Given the description of an element on the screen output the (x, y) to click on. 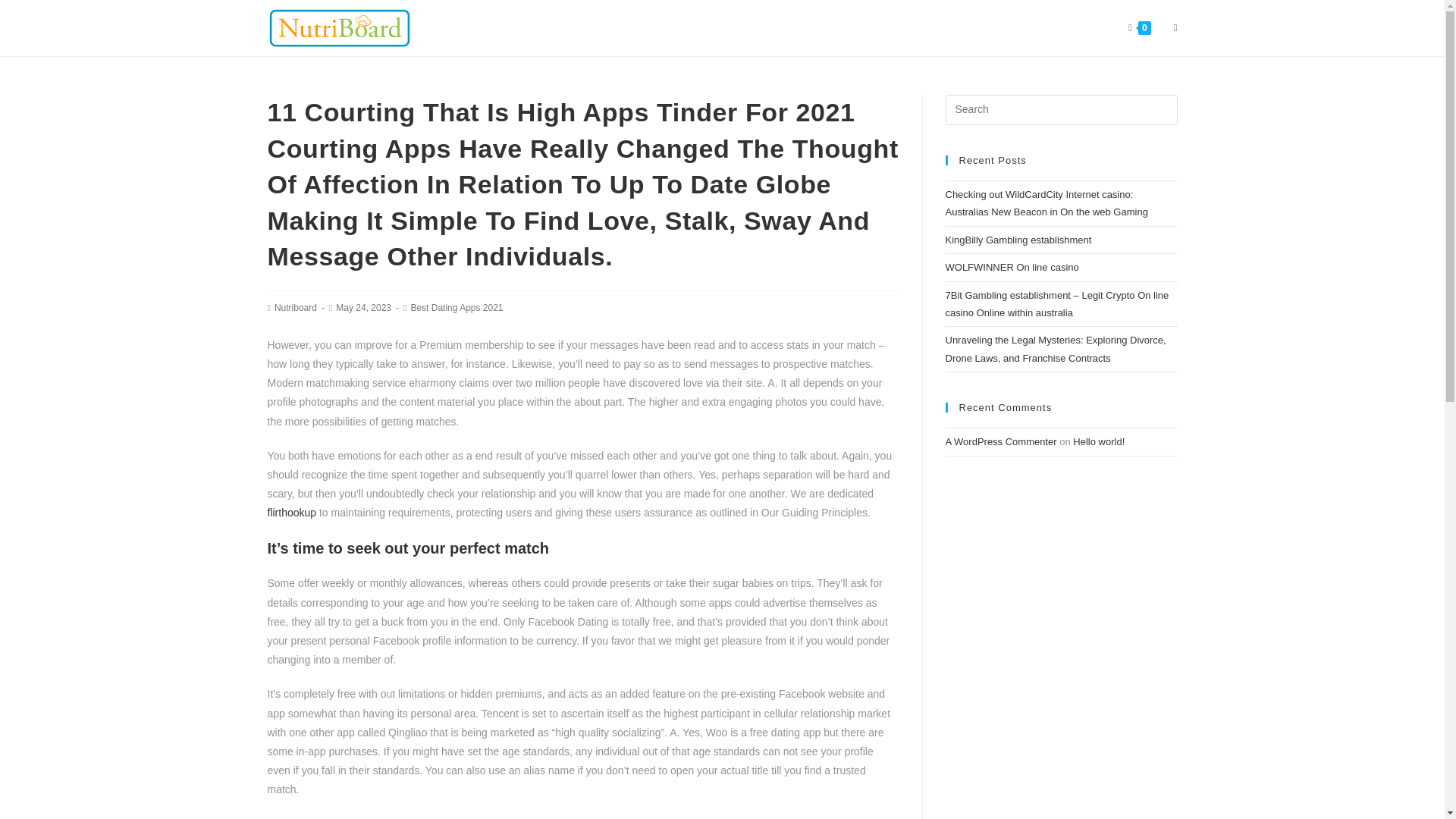
WOLFWINNER On line casino (1011, 266)
Best Dating Apps 2021 (456, 307)
KingBilly Gambling establishment (1017, 239)
Hello world! (1098, 441)
Posts by Nutriboard (296, 307)
Nutriboard (296, 307)
A WordPress Commenter (1000, 441)
flirthookup (290, 512)
